Given the description of an element on the screen output the (x, y) to click on. 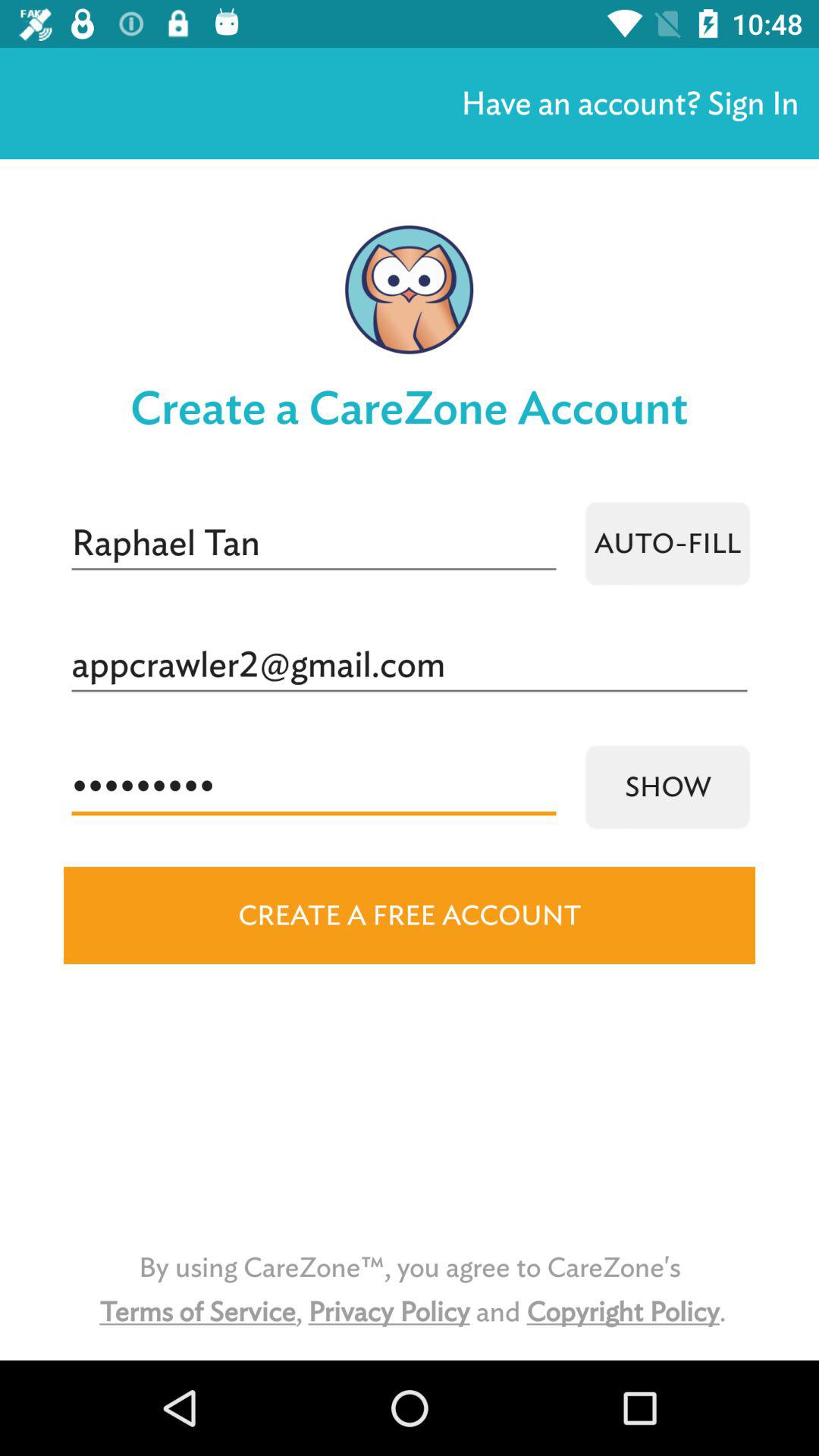
launch raphael tan (313, 543)
